Given the description of an element on the screen output the (x, y) to click on. 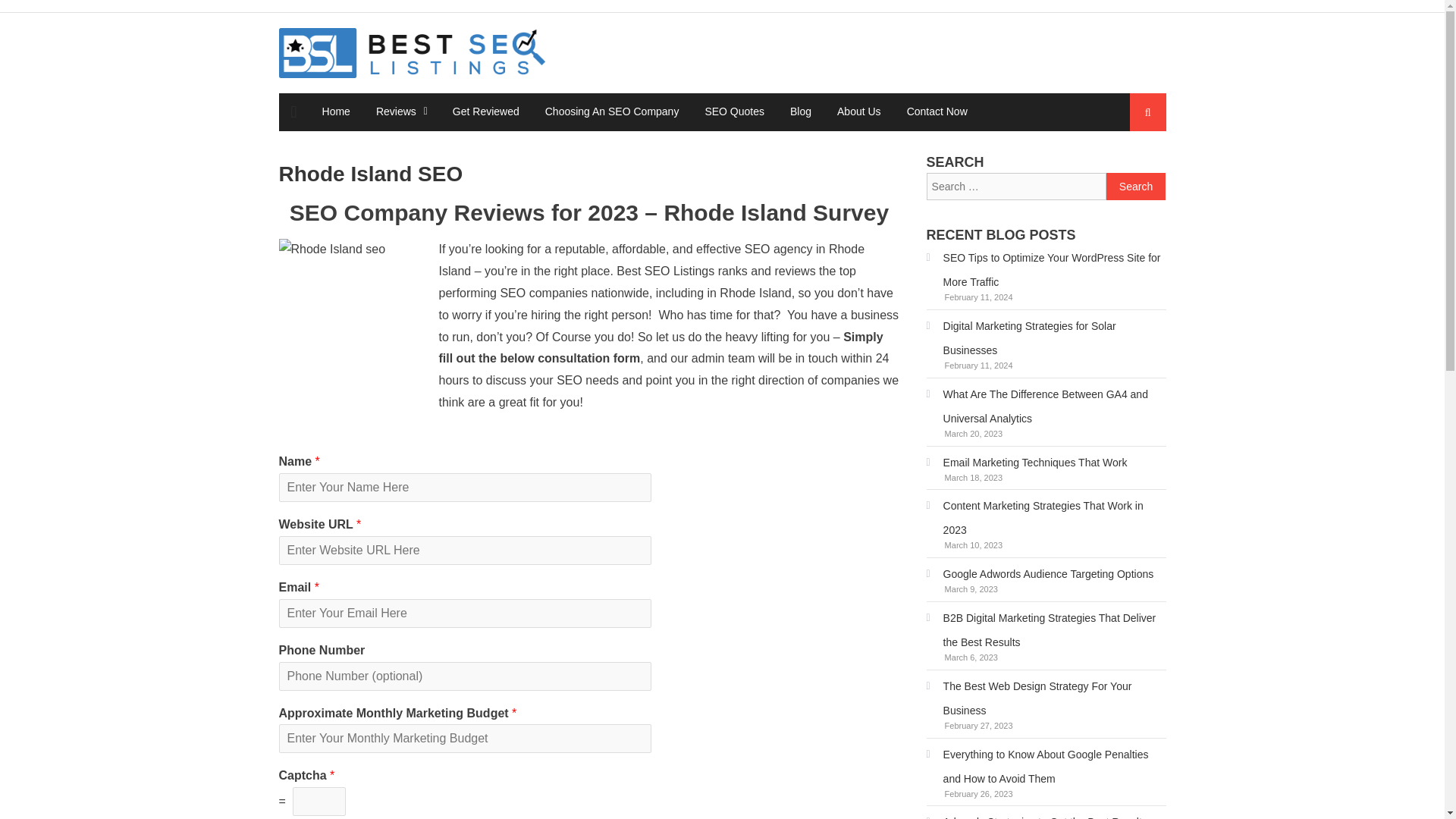
Contact Now (936, 111)
Reviews (396, 111)
Search (1136, 185)
Email Marketing Techniques That Work (1026, 462)
What Are The Difference Between GA4 and Universal Analytics (1046, 406)
Adwords Strategies to Get the Best Results (1036, 814)
Blog (800, 111)
SEO Quotes (734, 111)
Search (1133, 168)
